Given the description of an element on the screen output the (x, y) to click on. 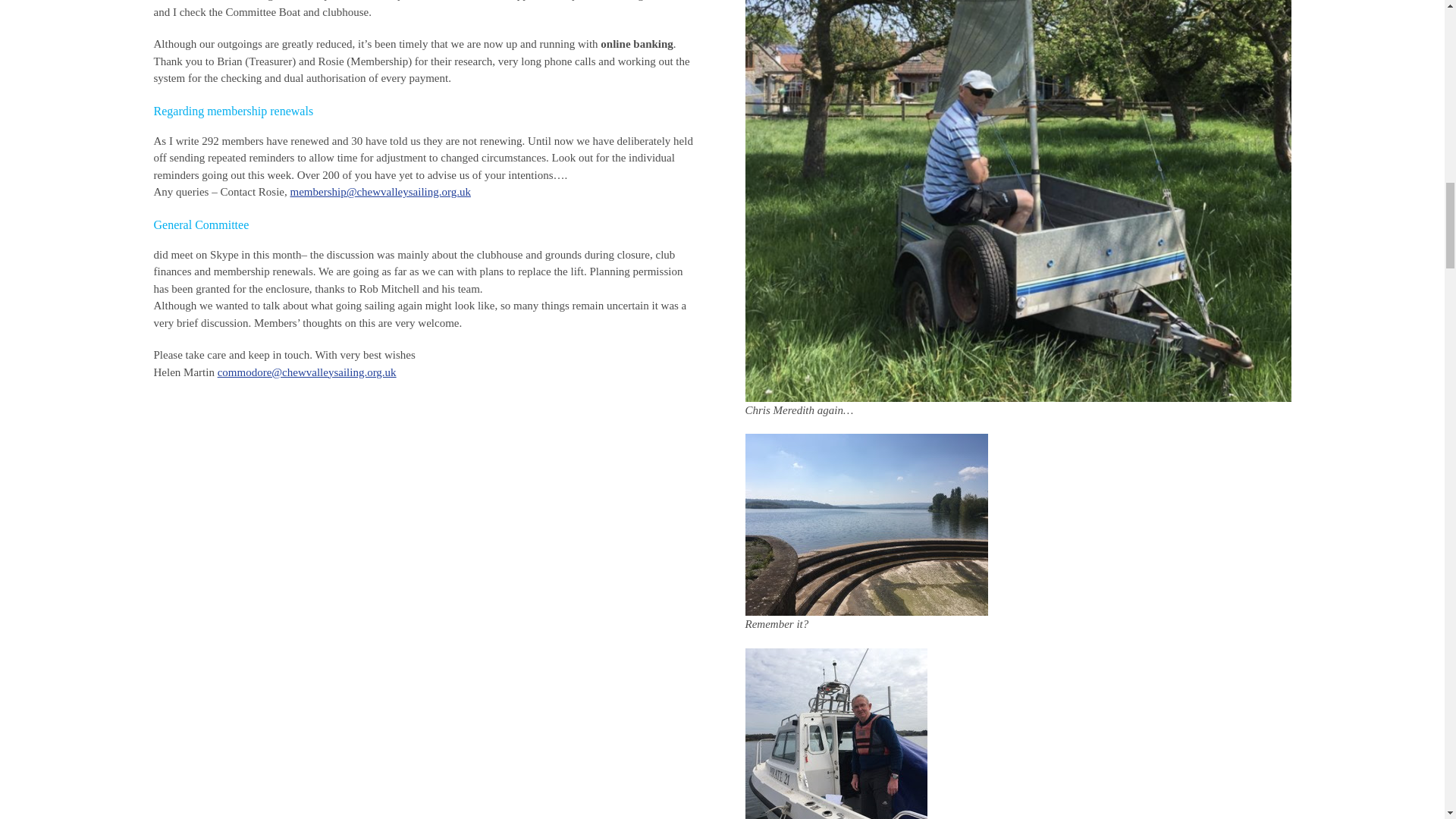
Remember-It2 (865, 524)
Steve-Turner-charging-the-Committee-Boat-battery (835, 733)
